Given the description of an element on the screen output the (x, y) to click on. 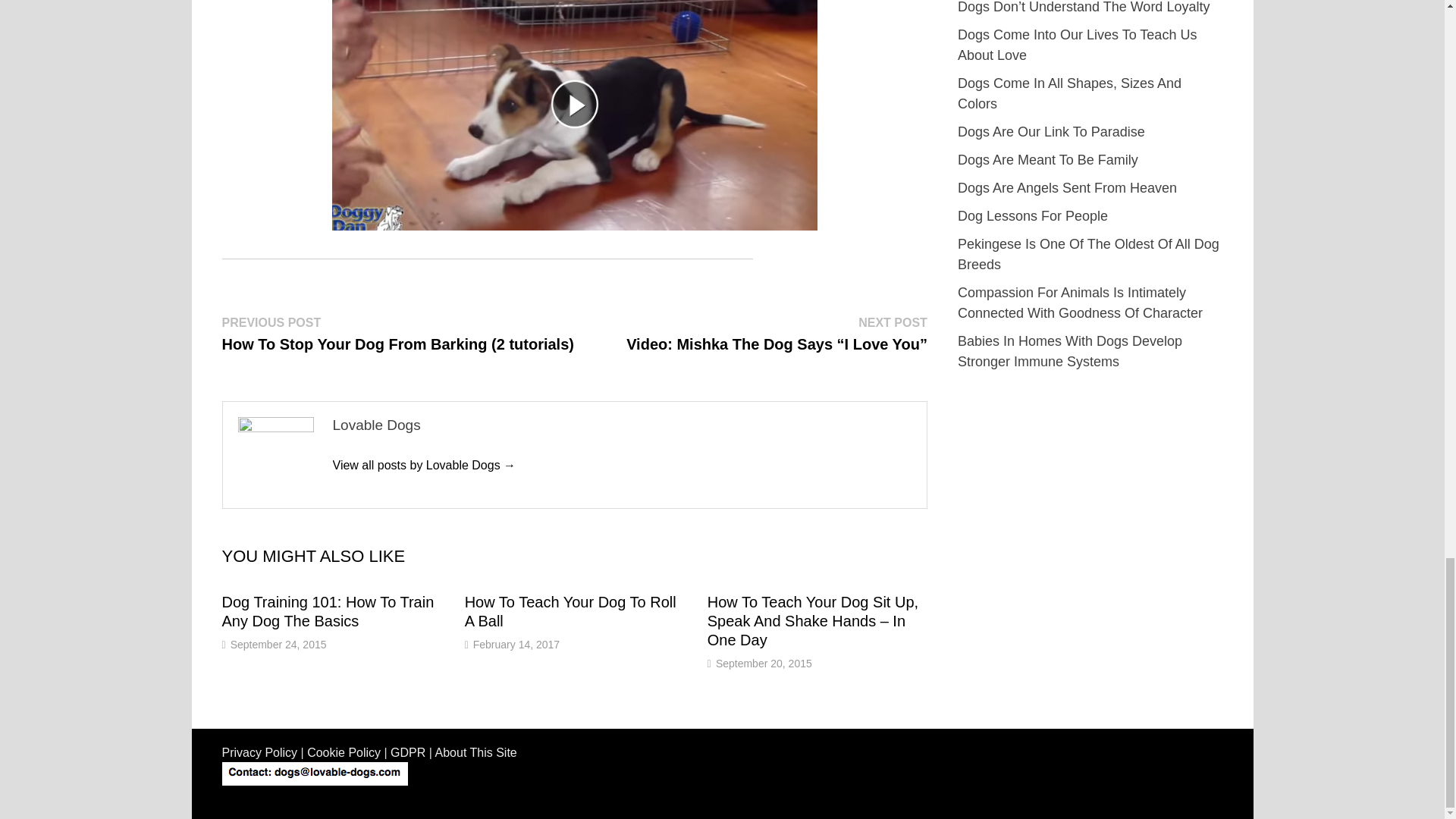
February 14, 2017 (516, 644)
Dog Training 101: How To Train Any Dog The Basics (327, 611)
How To Teach Your Dog To Roll A Ball (570, 611)
How To Teach Your Dog To Roll A Ball (570, 611)
September 24, 2015 (278, 644)
Lovable Dogs (423, 464)
Dog Training 101: How To Train Any Dog The Basics (327, 611)
September 20, 2015 (764, 663)
